Given the description of an element on the screen output the (x, y) to click on. 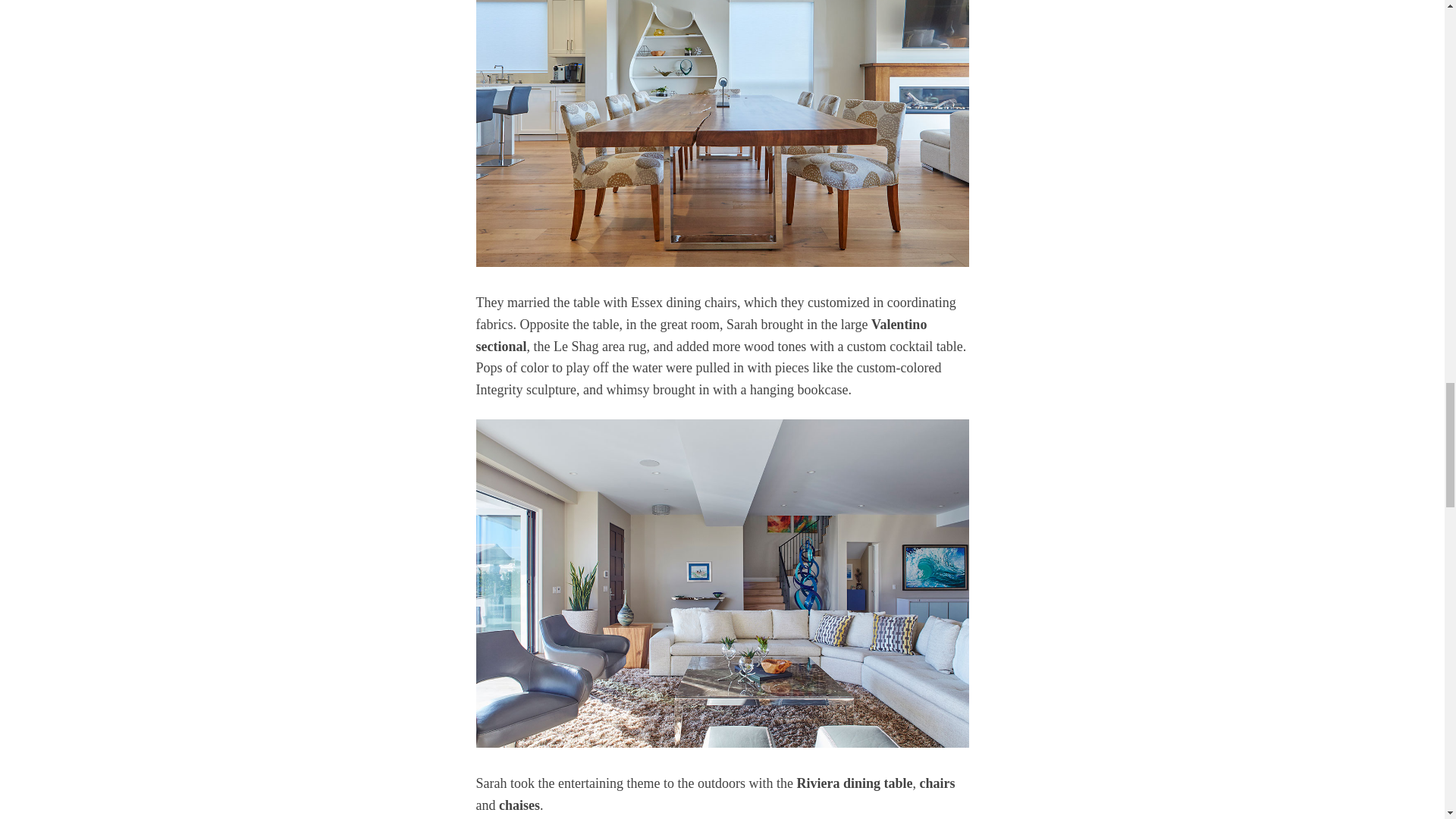
chaises (519, 805)
Riviera dining table (854, 783)
Valentino sectional (701, 334)
chairs (936, 783)
